Given the description of an element on the screen output the (x, y) to click on. 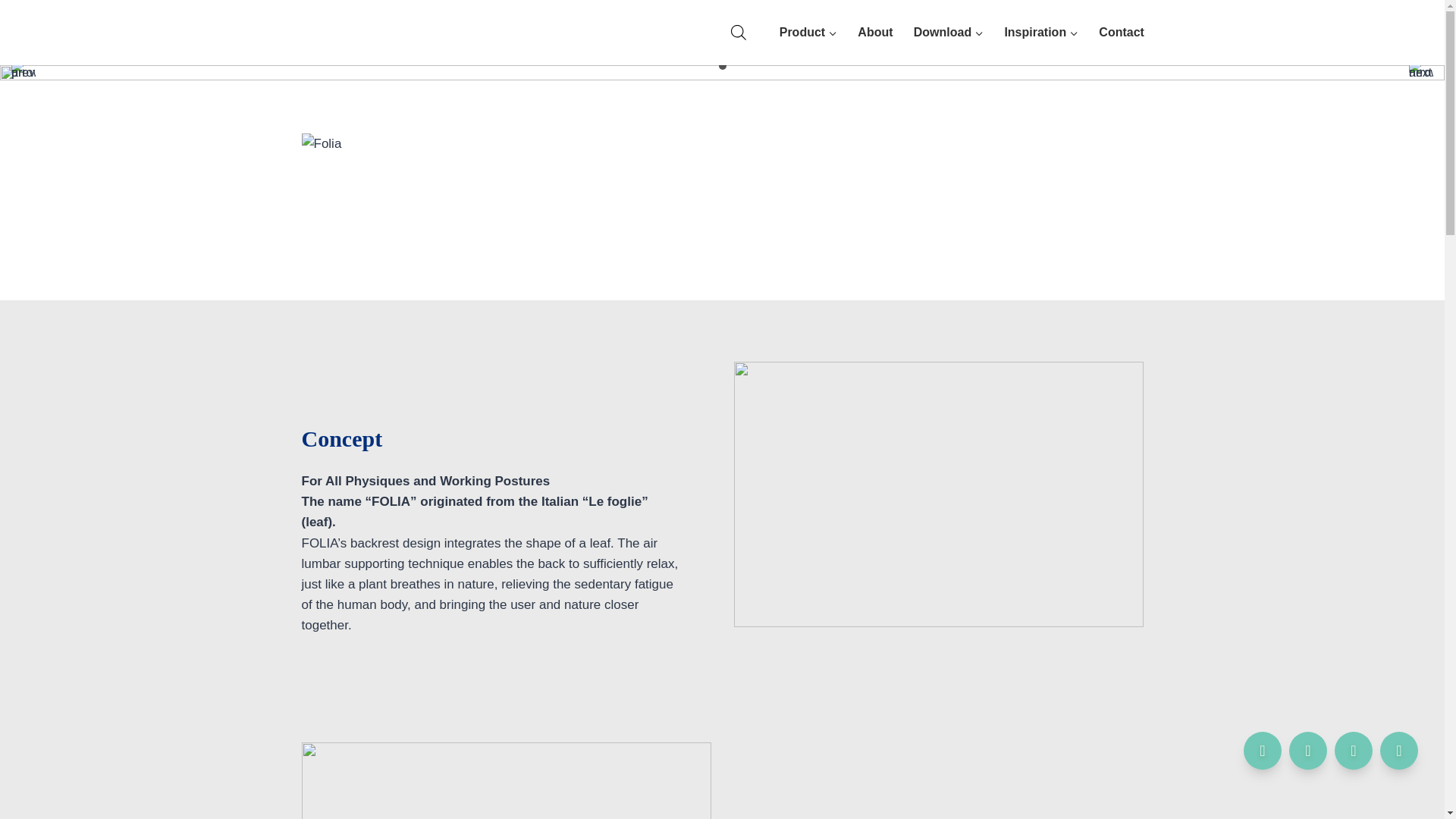
Contact (1121, 32)
About (874, 32)
Download (948, 32)
Inspiration (1041, 32)
Product (807, 32)
